Given the description of an element on the screen output the (x, y) to click on. 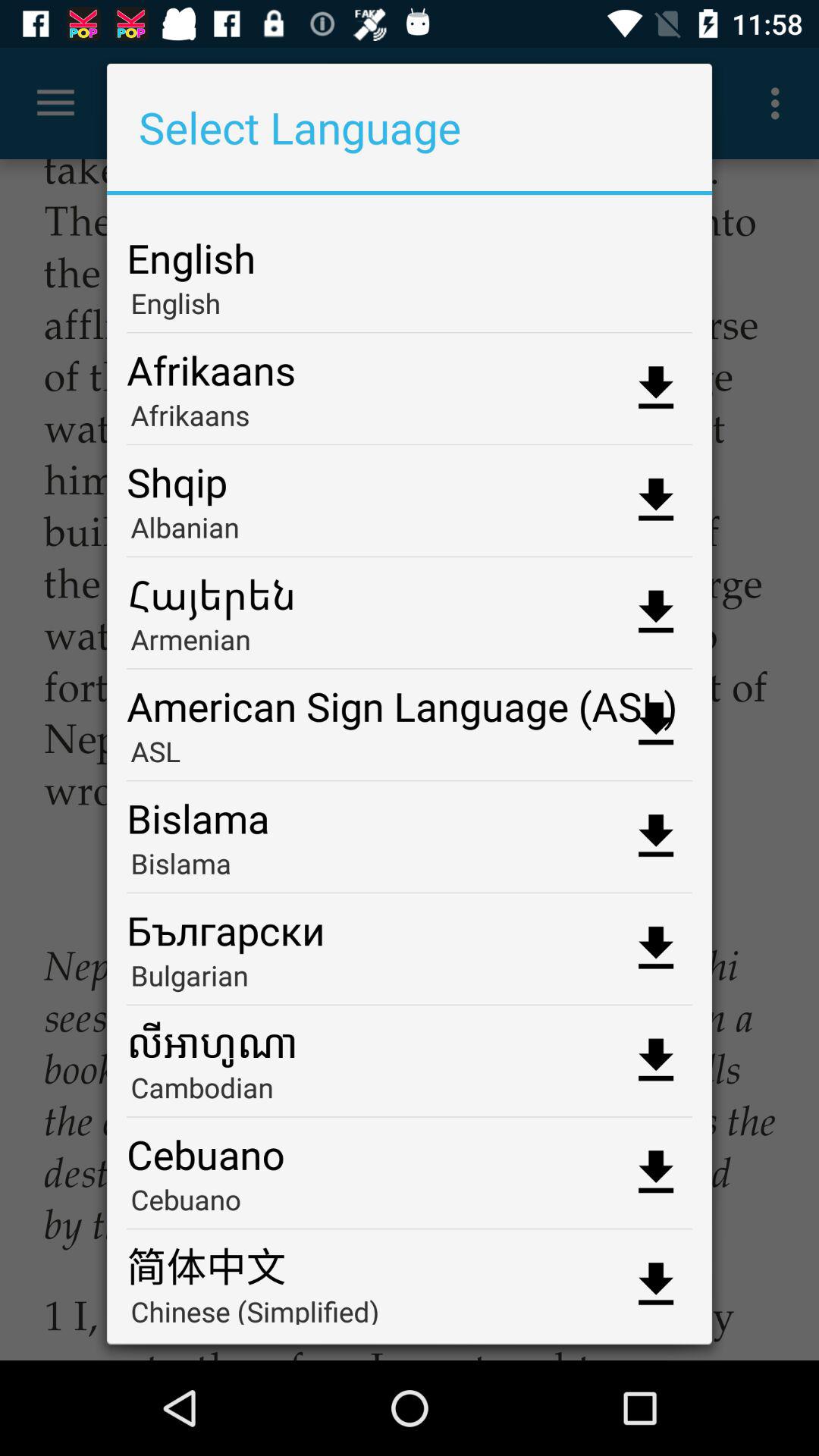
turn off app below armenian app (409, 700)
